Given the description of an element on the screen output the (x, y) to click on. 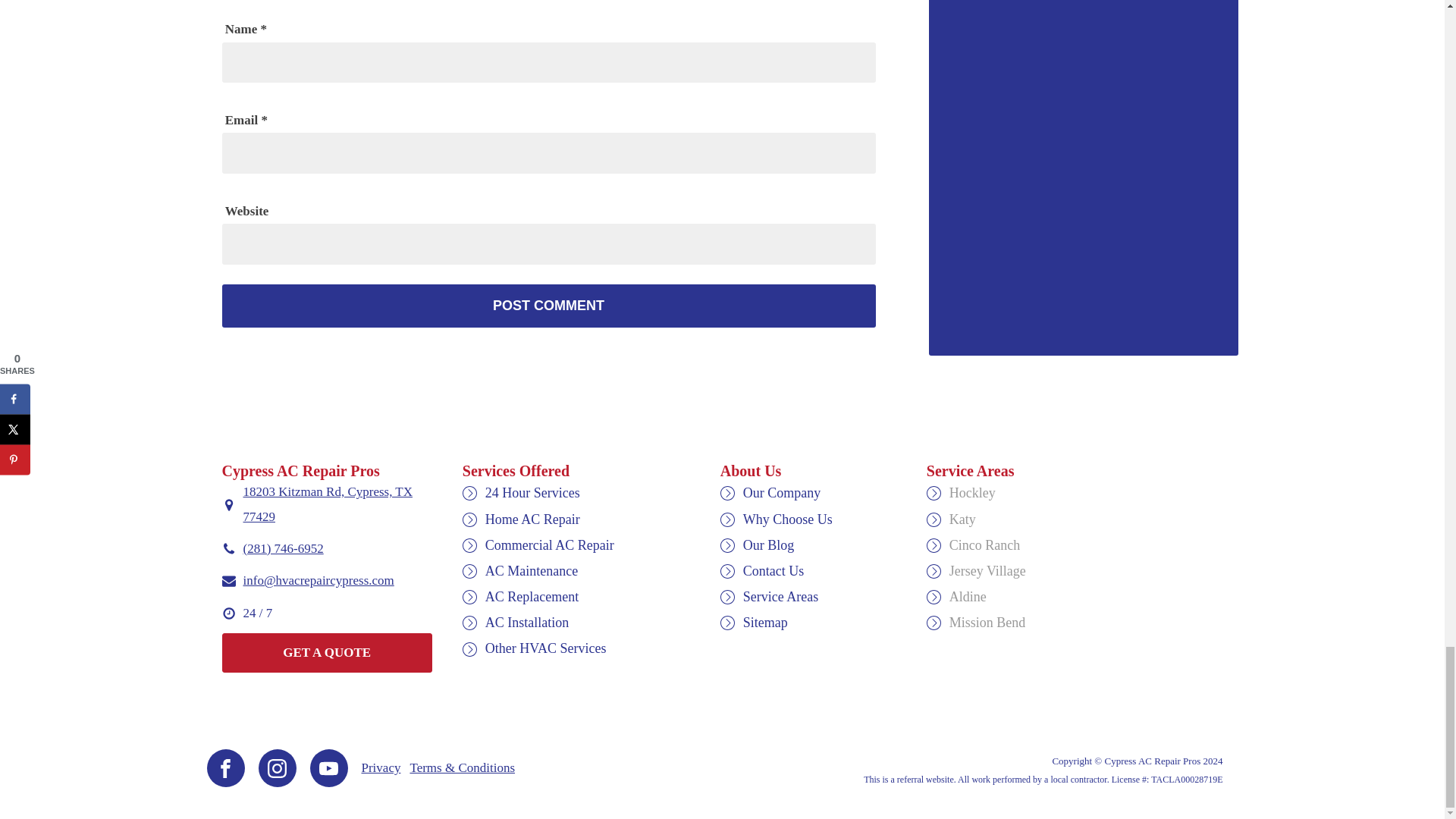
Home AC Repair (531, 519)
Post Comment (548, 306)
AC Installation (526, 622)
Post Comment (548, 306)
AC Maintenance (531, 570)
Commercial AC Repair (549, 544)
Our Company (781, 492)
Other HVAC Services (545, 647)
24 Hour Services (531, 492)
GET A QUOTE (325, 652)
18203 Kitzman Rd, Cypress, TX 77429 (336, 504)
AC Replacement (531, 596)
